Given the description of an element on the screen output the (x, y) to click on. 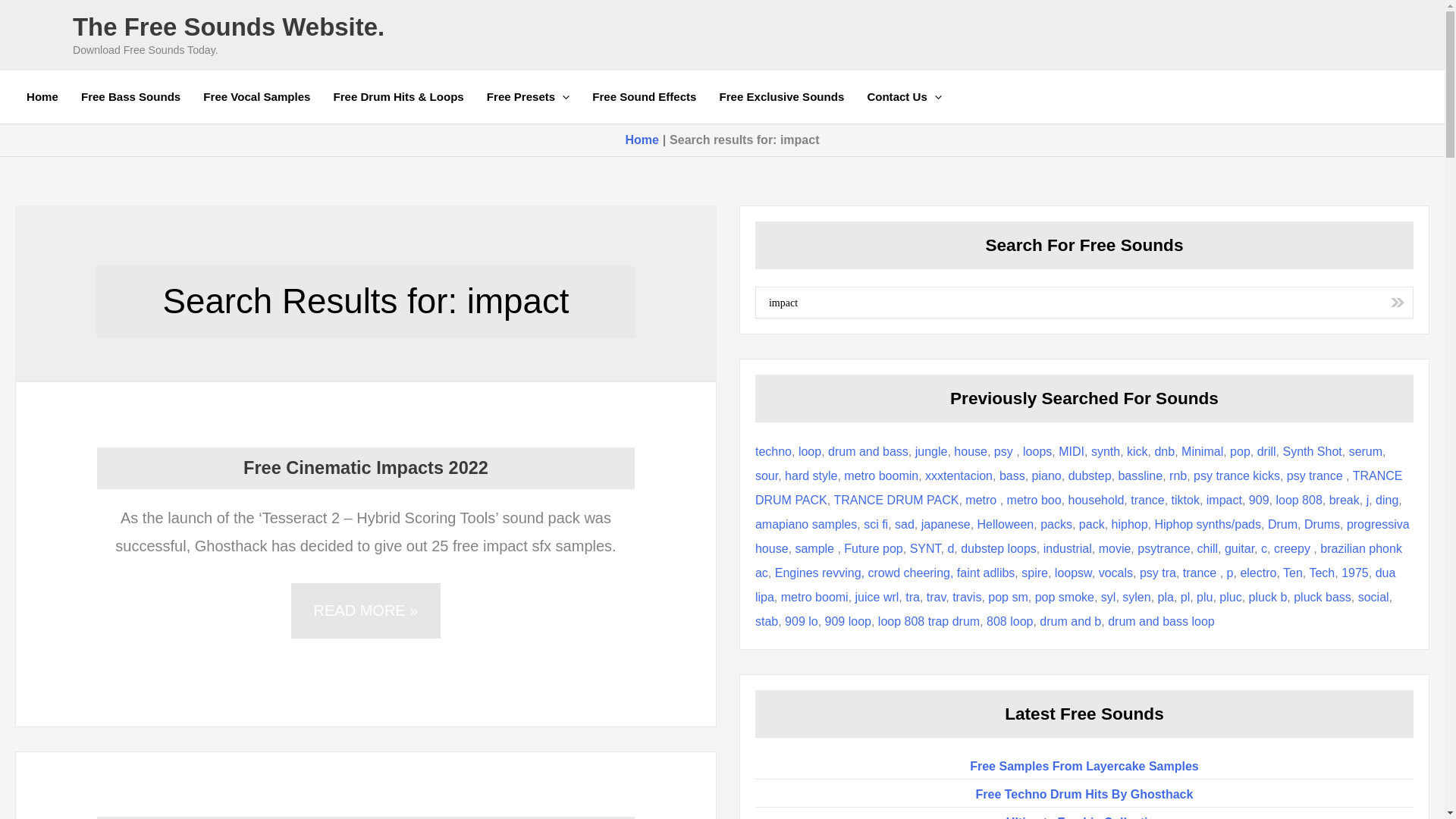
Free Presets (528, 96)
The Free Sounds Website. (228, 26)
See All Free Exclusive Downloads (781, 96)
impact (1074, 302)
Free Bass Sounds (130, 96)
Free Bass Sounds (130, 96)
The Free Sounds Website Homepage (41, 96)
Free Sound Effects (643, 96)
Home (41, 96)
Contact Free Sounds Website (904, 96)
Contact Us (904, 96)
Free Exclusive Sounds (781, 96)
Free Presets (528, 96)
impact (1074, 302)
Free Vocal Samples (256, 96)
